Given the description of an element on the screen output the (x, y) to click on. 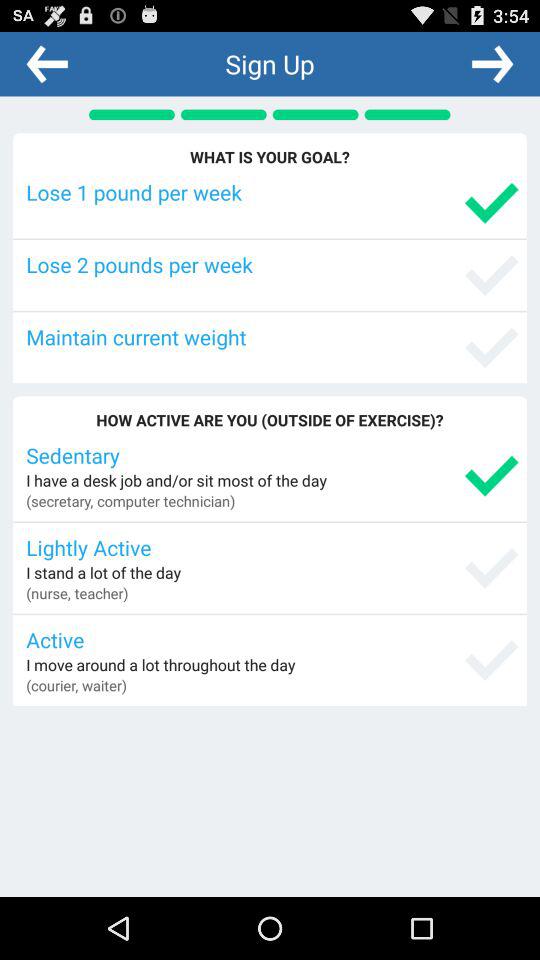
click app below (secretary, computer technician) item (272, 547)
